Given the description of an element on the screen output the (x, y) to click on. 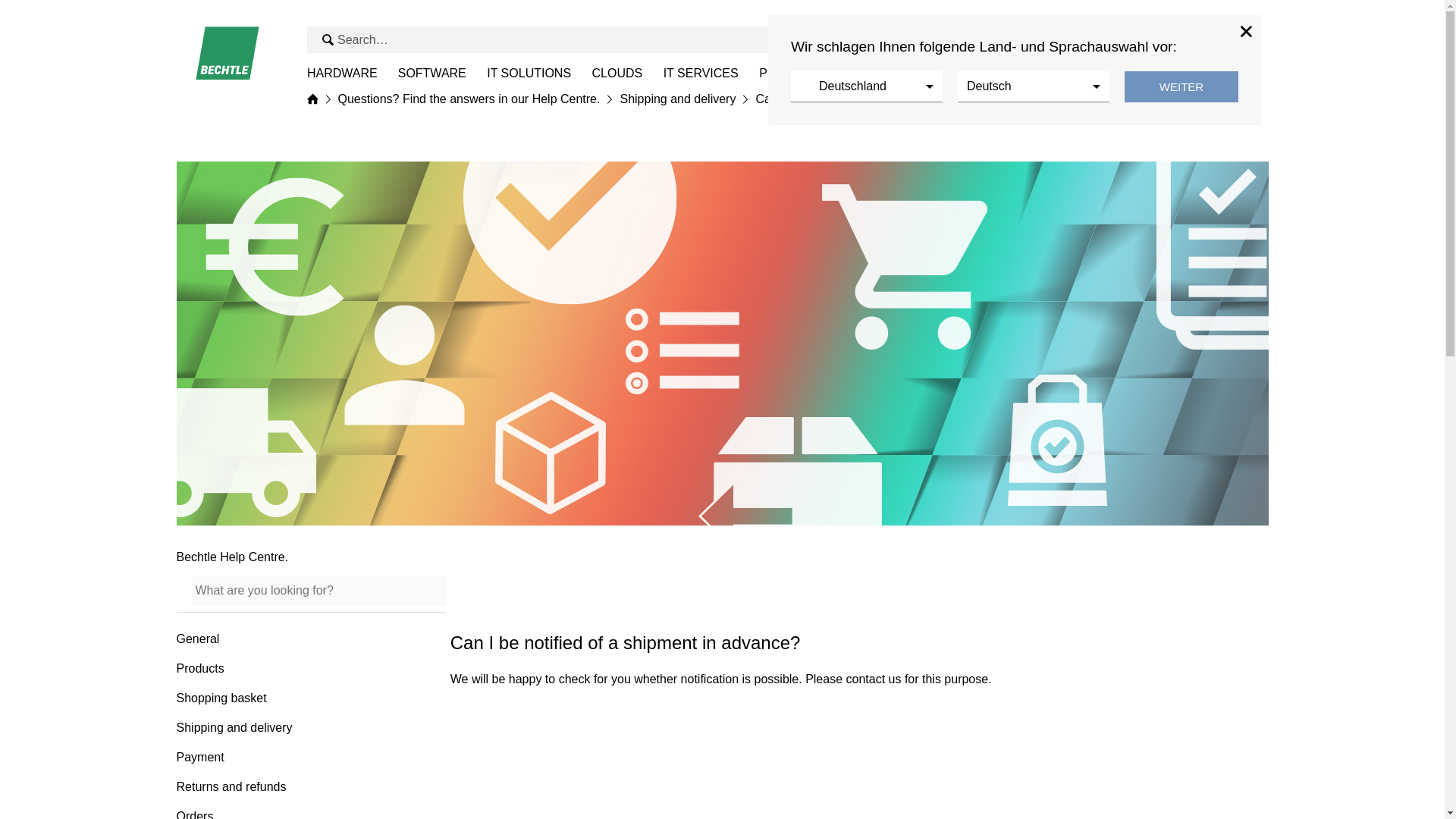
Shopping basket (1237, 40)
My Bechtle (1209, 39)
Compare products (1180, 40)
Deutsch (1032, 86)
Deutschland (866, 86)
WEITER (1180, 86)
